Given the description of an element on the screen output the (x, y) to click on. 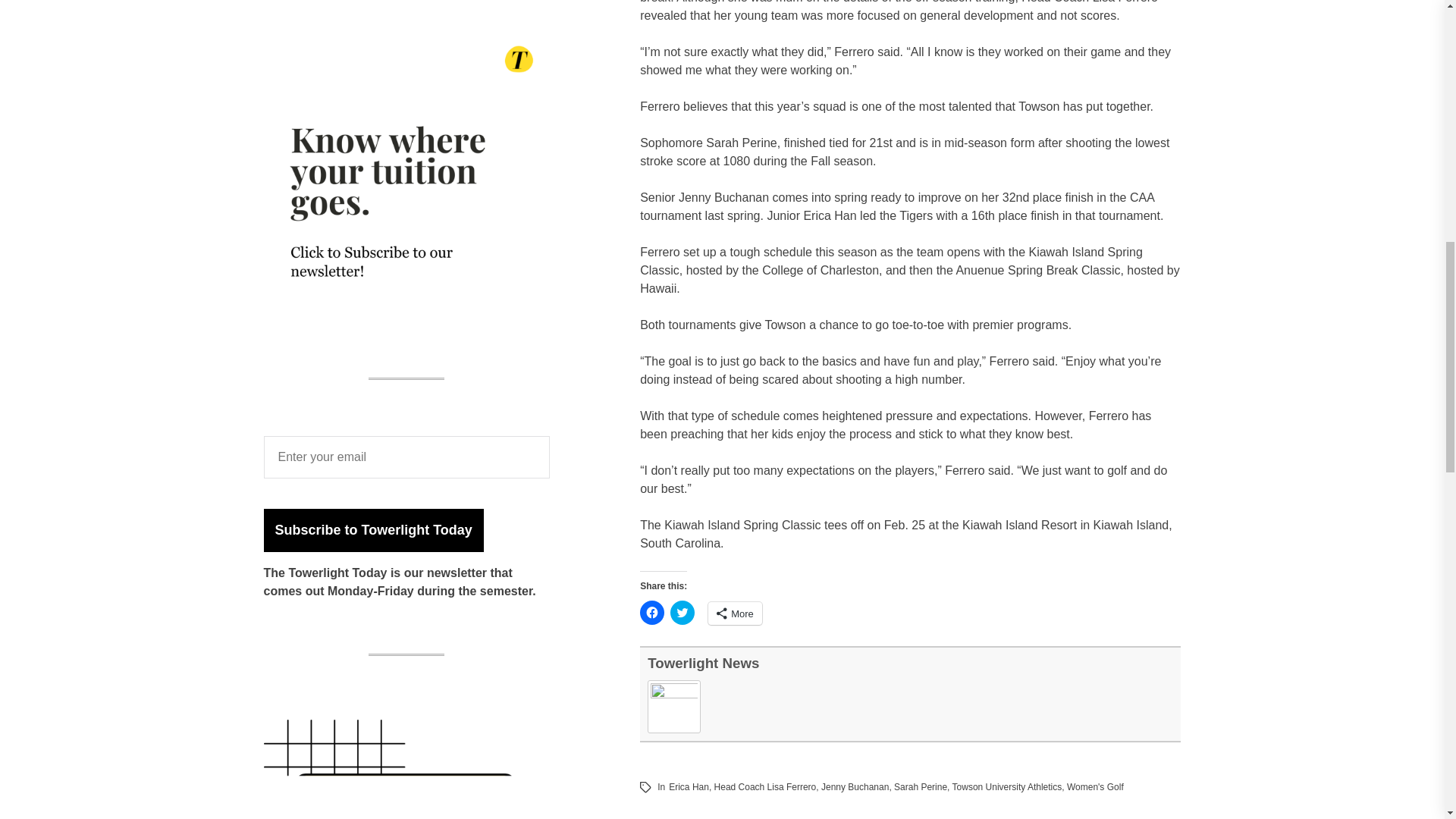
Click to share on Twitter (681, 612)
Click to share on Facebook (651, 612)
All posts by Towerlight News (702, 662)
